Given the description of an element on the screen output the (x, y) to click on. 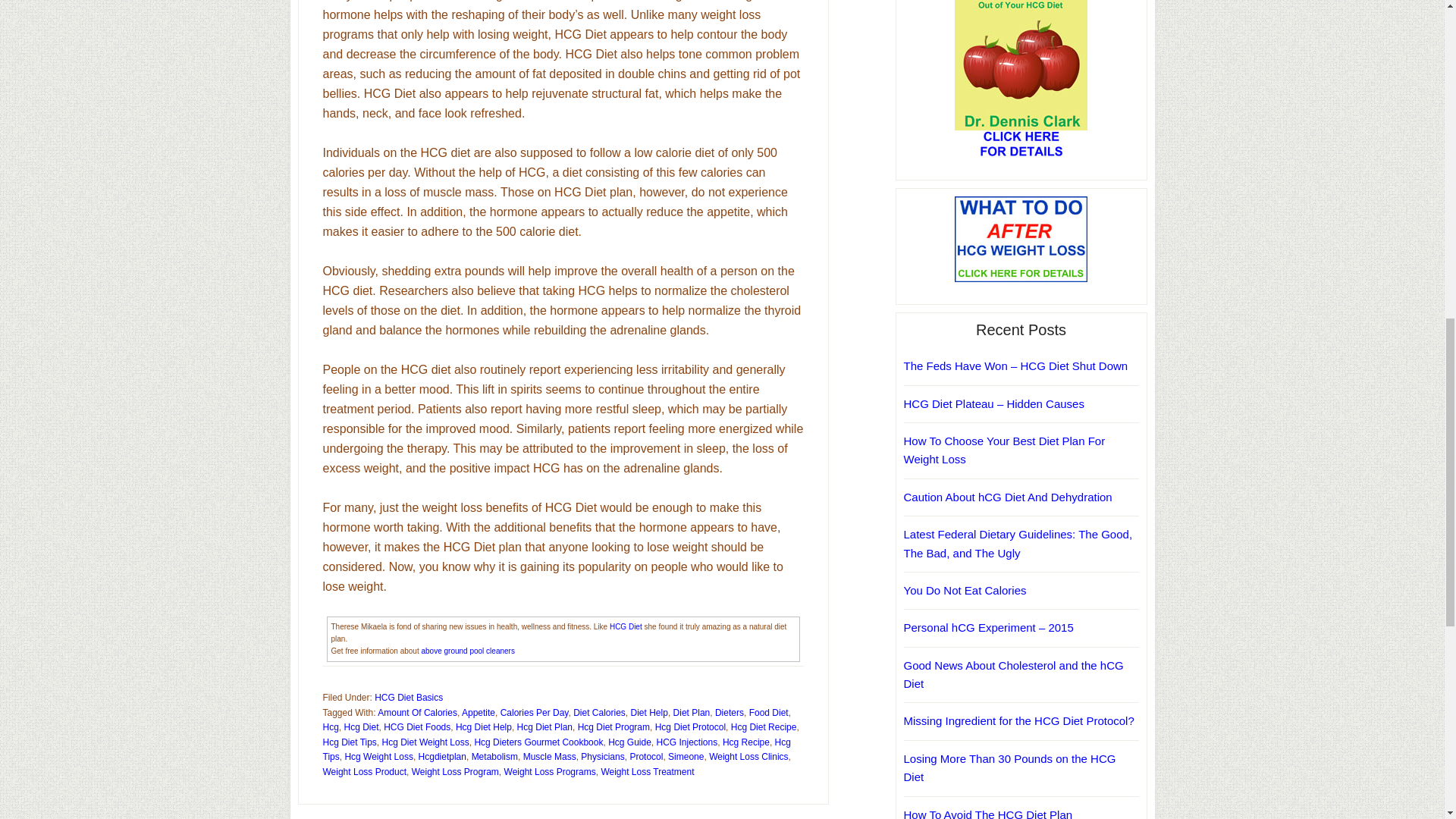
Diet Calories (599, 712)
Hcgdietplan (442, 756)
Hcg Diet Program (613, 726)
Hcg Diet Protocol (690, 726)
Hcg Guide (629, 742)
HCG Diet Basics (408, 697)
Diet Plan (691, 712)
Hcg Diet Tips (350, 742)
Food Diet (769, 712)
after-hcg-weight-loss-1 (1021, 238)
